Given the description of an element on the screen output the (x, y) to click on. 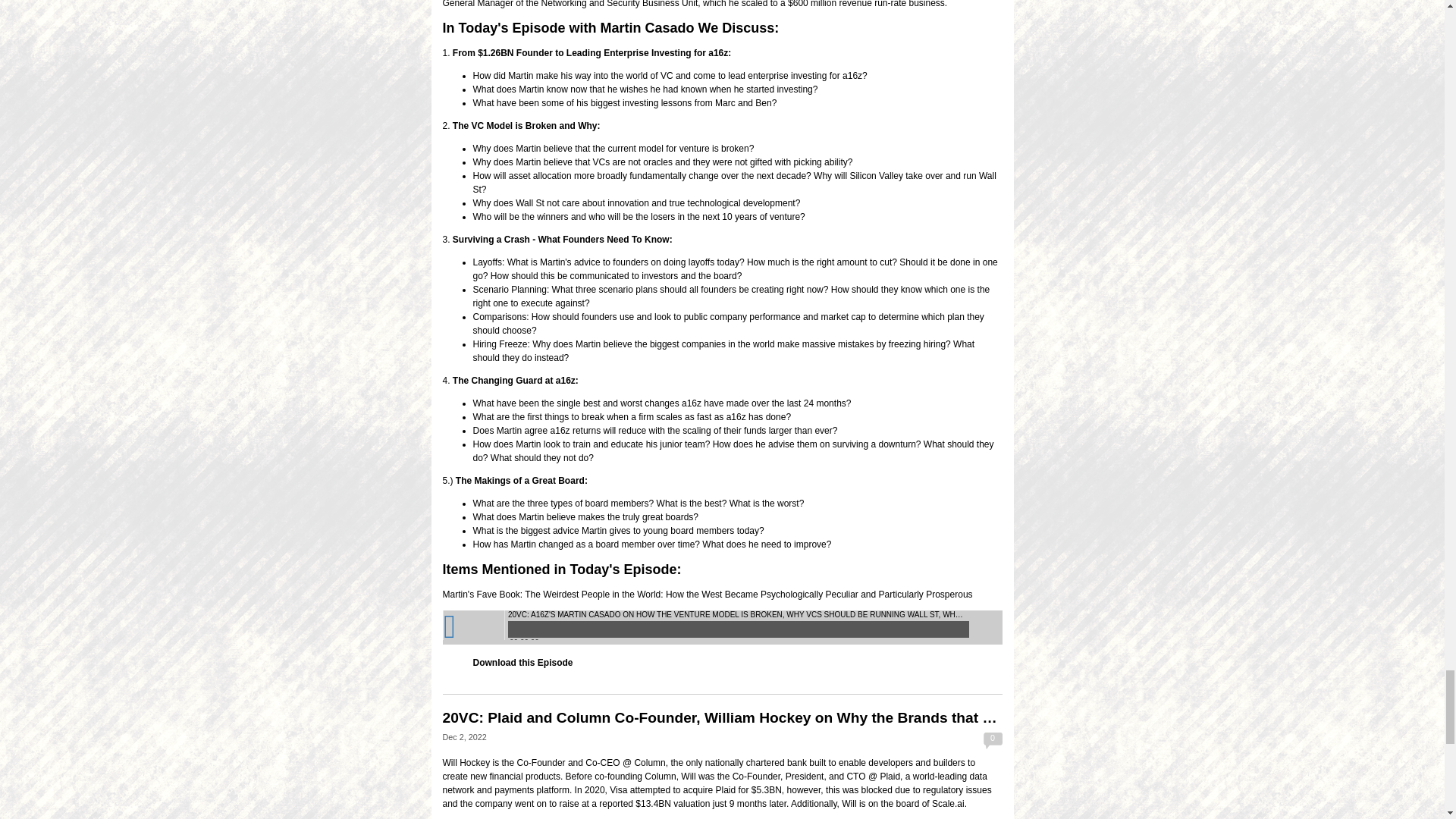
Libsyn Player (722, 627)
